Given the description of an element on the screen output the (x, y) to click on. 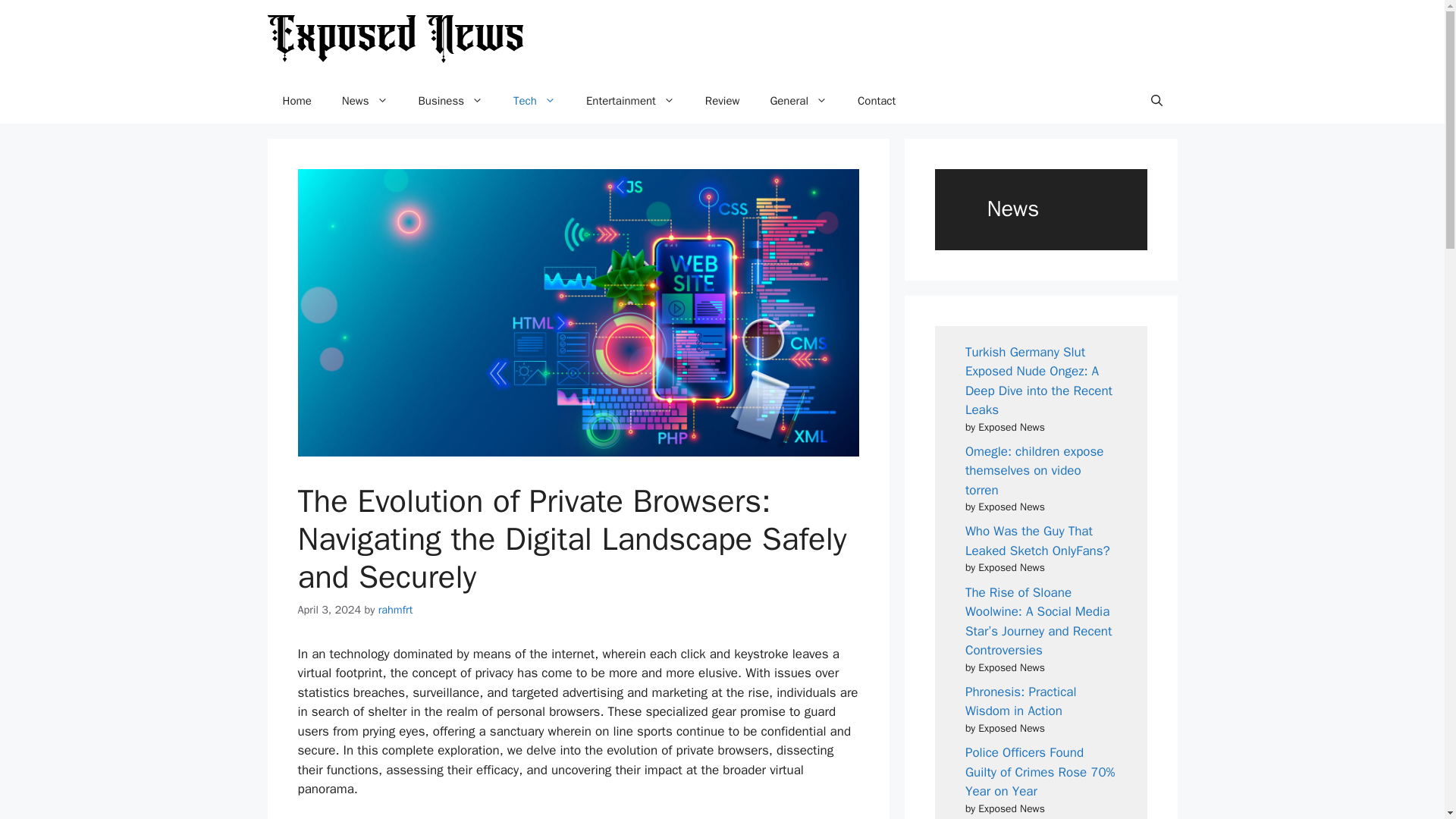
News (364, 100)
Omegle: children expose themselves on video torren (1034, 470)
Entertainment (630, 100)
General (798, 100)
rahmfrt (395, 609)
View all posts by rahmfrt (395, 609)
Home (296, 100)
Tech (533, 100)
Phronesis: Practical Wisdom in Action (1021, 701)
Business (451, 100)
